Given the description of an element on the screen output the (x, y) to click on. 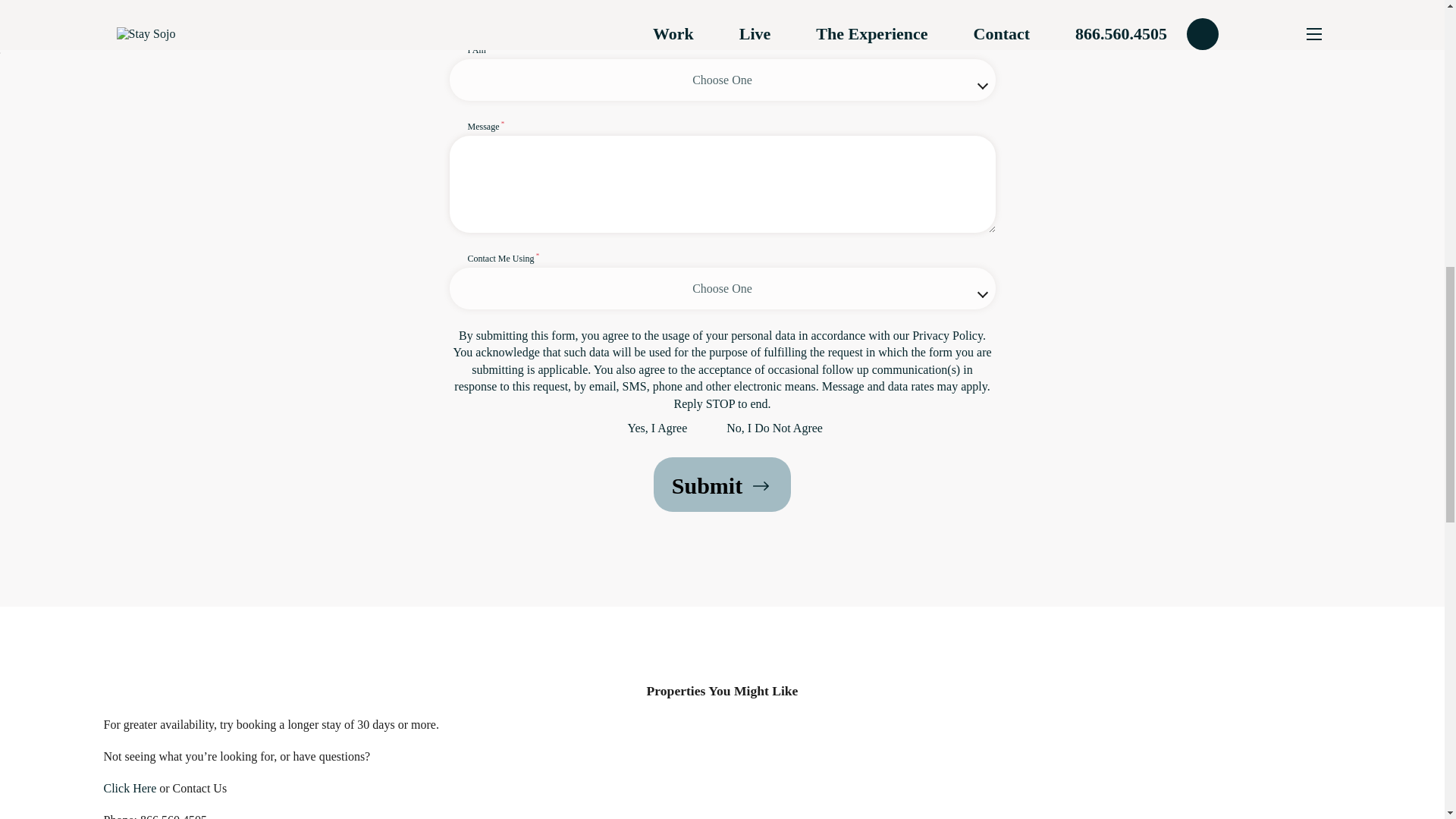
866.560.4505 (172, 816)
I am (721, 71)
unchecked (713, 429)
Contact me using (721, 279)
Submit (721, 484)
Message (721, 175)
Phone number must be 10 digits long. (862, 12)
Click Here (129, 788)
unchecked (615, 429)
Privacy Policy (947, 335)
